Given the description of an element on the screen output the (x, y) to click on. 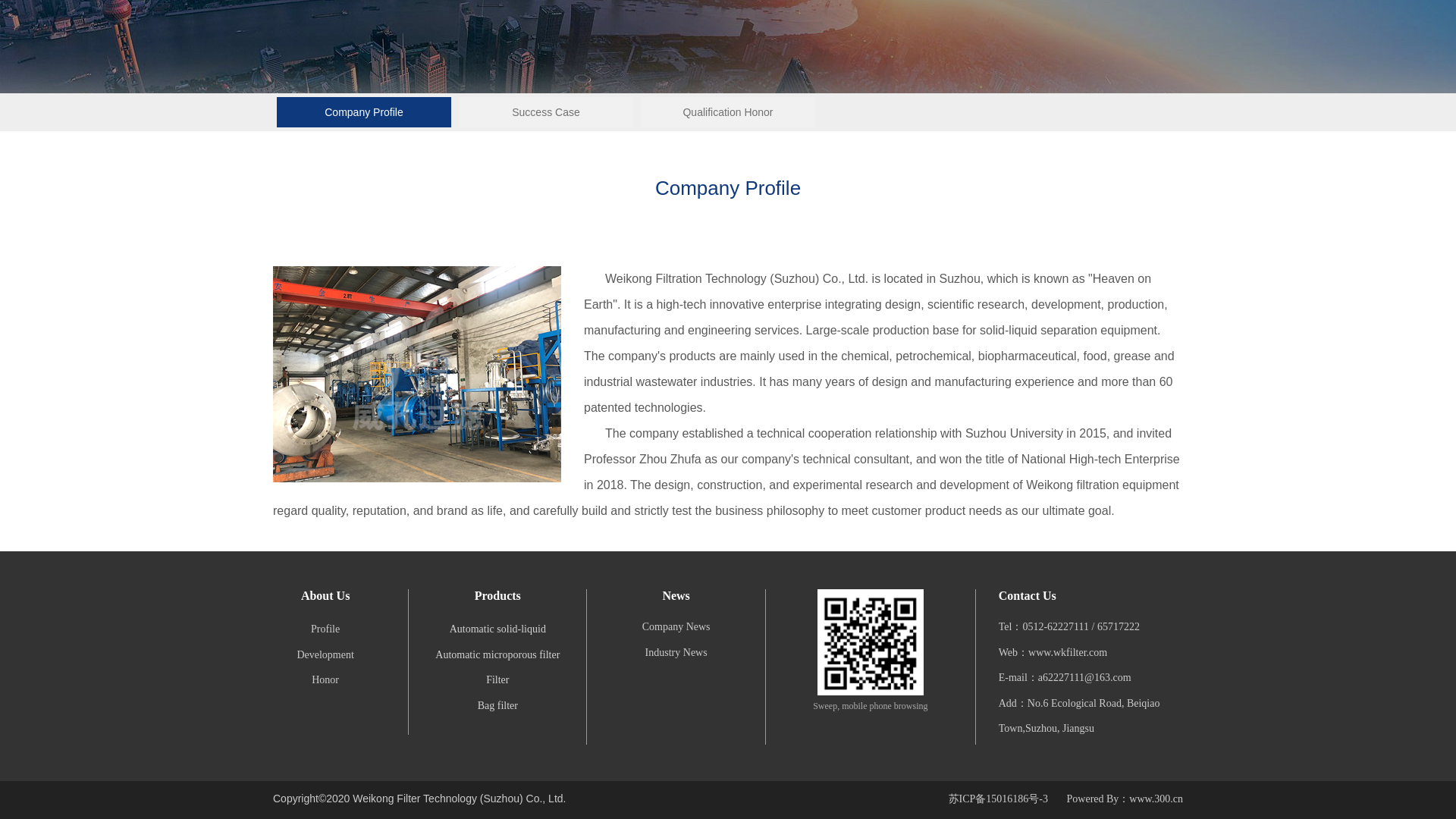
Powered By (1093, 798)
Filter (497, 679)
Qualification Honor (727, 112)
Honor (325, 679)
Development (325, 654)
Success Case (545, 112)
Bag filter (497, 705)
www.300.cn (1155, 798)
Company Profile (363, 112)
Automatic solid-liquid (497, 628)
0512-62227111 (1055, 626)
Automatic microporous filter (497, 654)
Company News (676, 626)
www.wkfilter.com (1066, 652)
Industry News (676, 652)
